Given the description of an element on the screen output the (x, y) to click on. 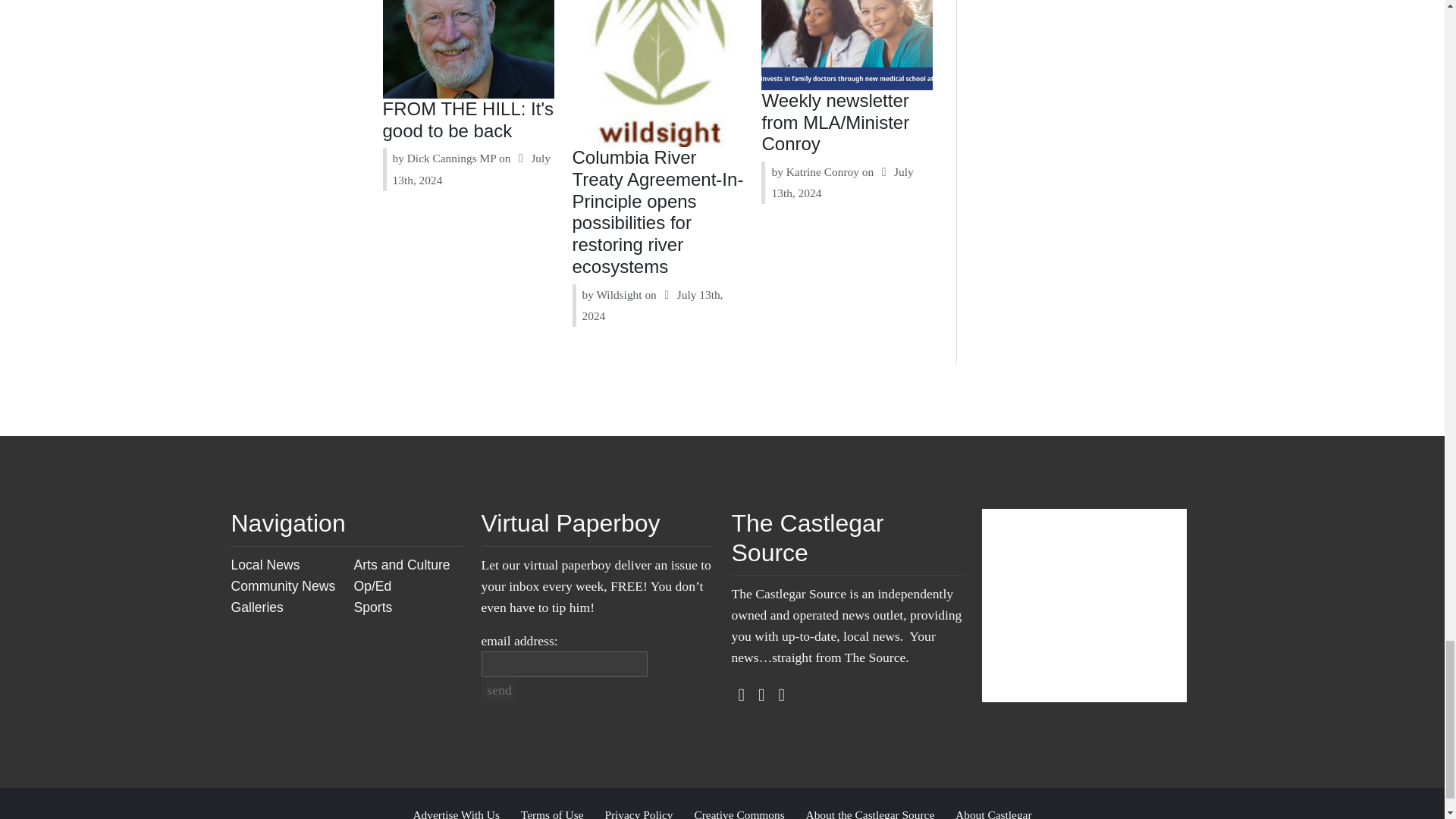
send (498, 689)
FROM THE HILL: It's good to be back (468, 119)
